Given the description of an element on the screen output the (x, y) to click on. 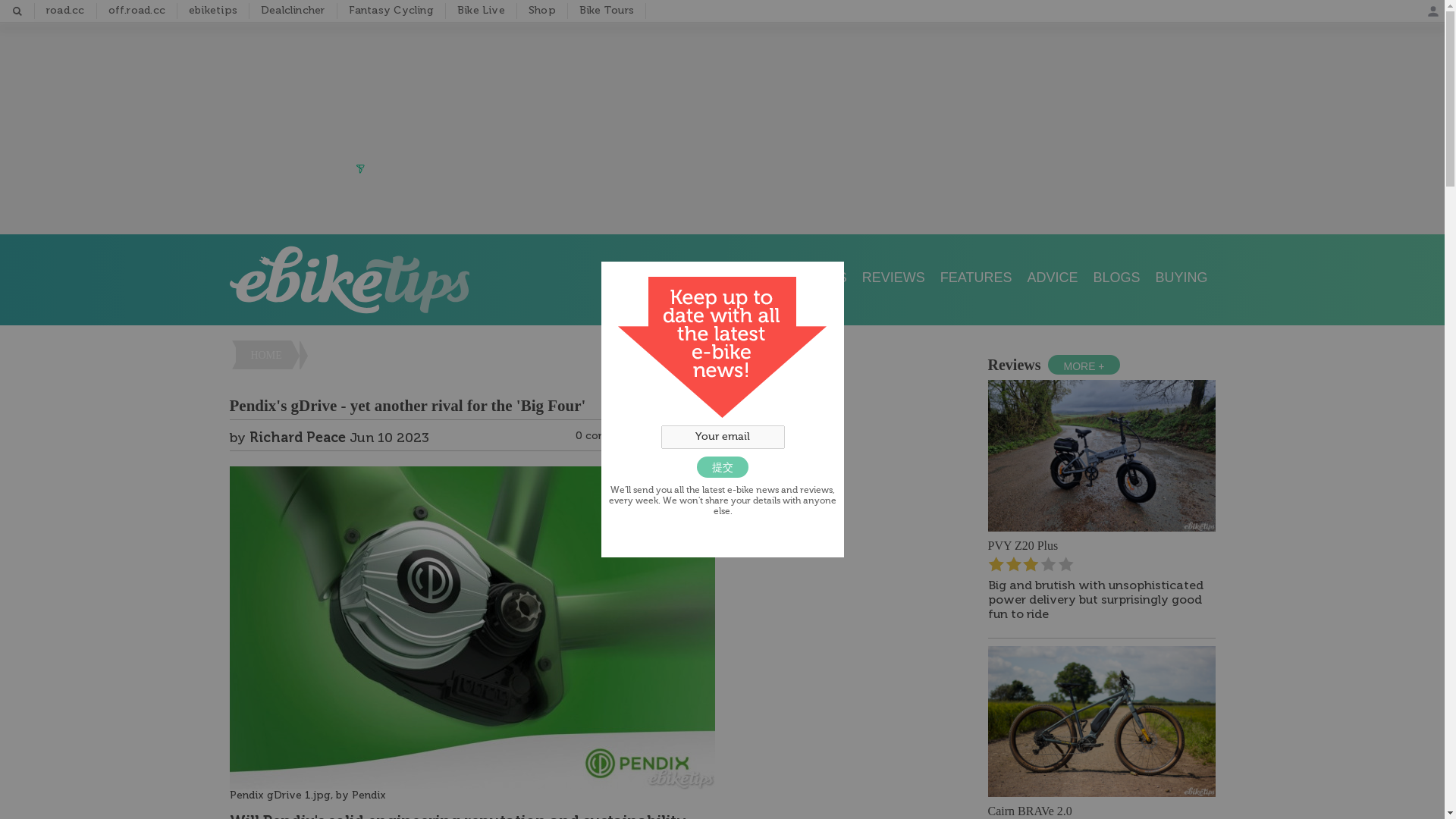
Share on Facebook (659, 438)
off.road.cc (136, 10)
REVIEWS (893, 277)
3rd party ad content (722, 125)
BUYING (1180, 277)
Fantasy Cycling (391, 10)
HOME (261, 354)
ebiketips (212, 10)
Features (976, 277)
ADVICE (1051, 277)
NEWS (825, 277)
FEATURES (976, 277)
Dealclincher (292, 10)
Buying (1180, 277)
